Given the description of an element on the screen output the (x, y) to click on. 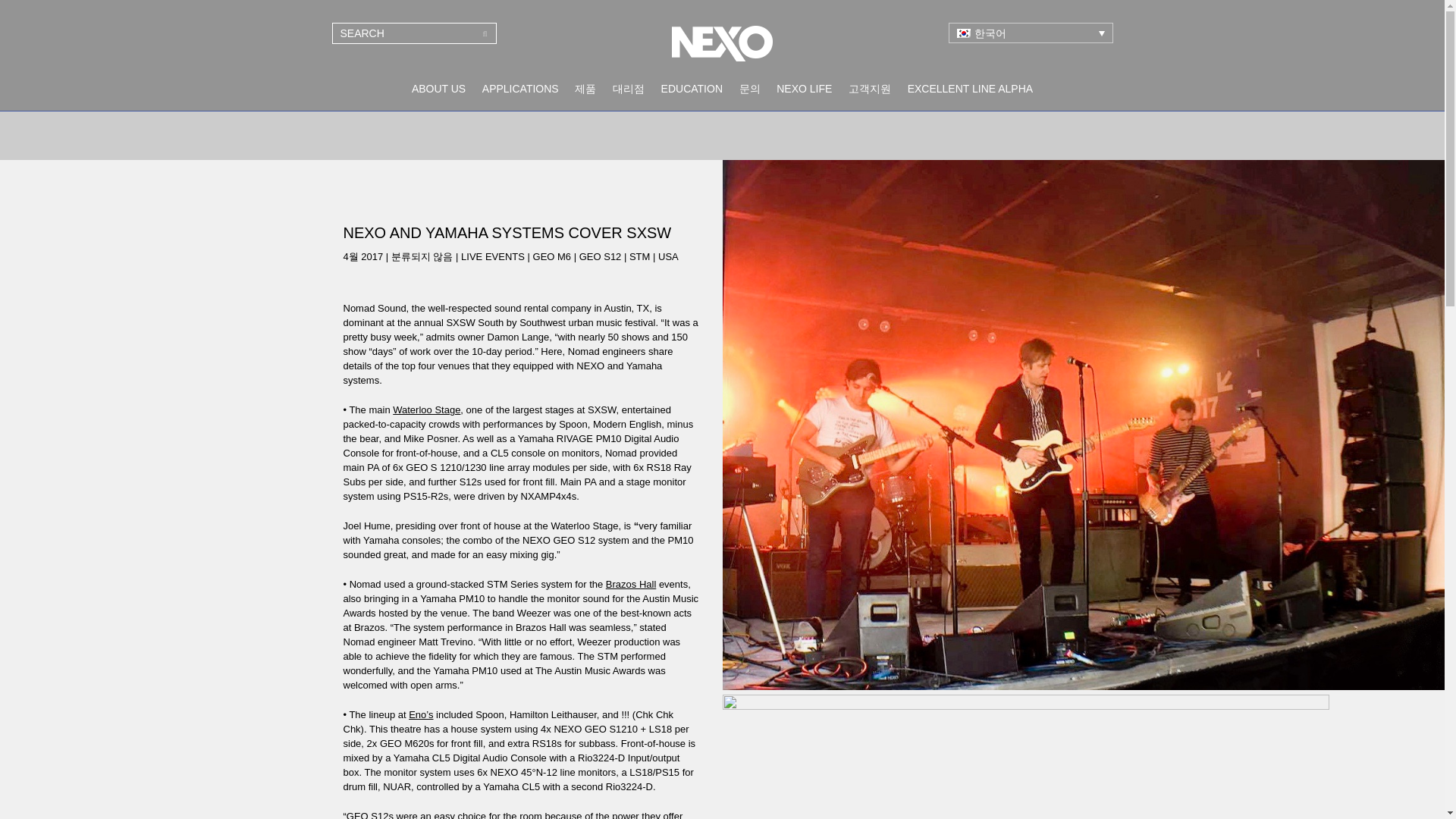
SEARCH (485, 33)
ABOUT US (437, 89)
APPLICATIONS (521, 89)
Search for: (413, 33)
